Given the description of an element on the screen output the (x, y) to click on. 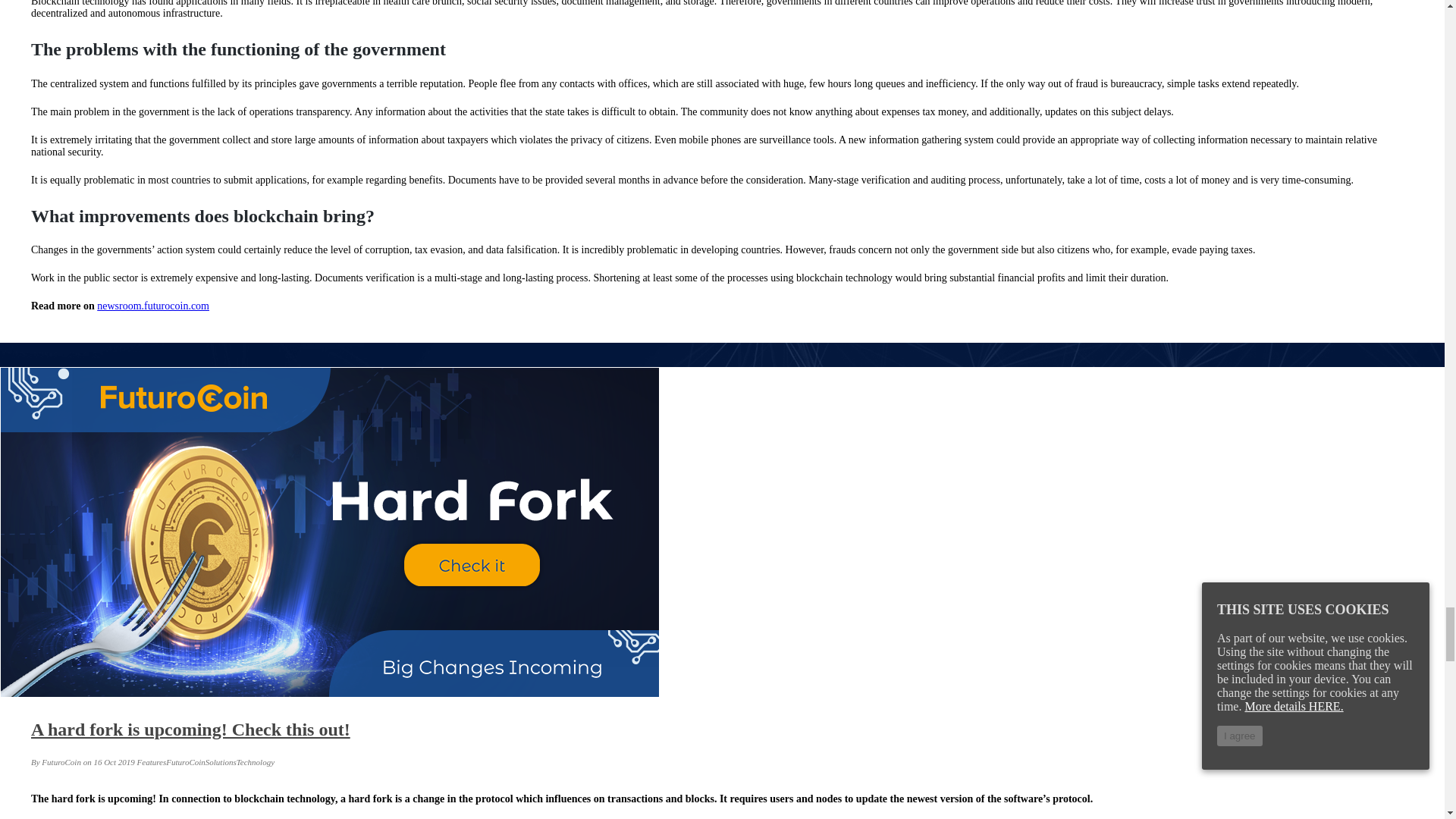
A hard fork is upcoming! Check this out! (190, 729)
newsroom.futurocoin.com (153, 306)
